Given the description of an element on the screen output the (x, y) to click on. 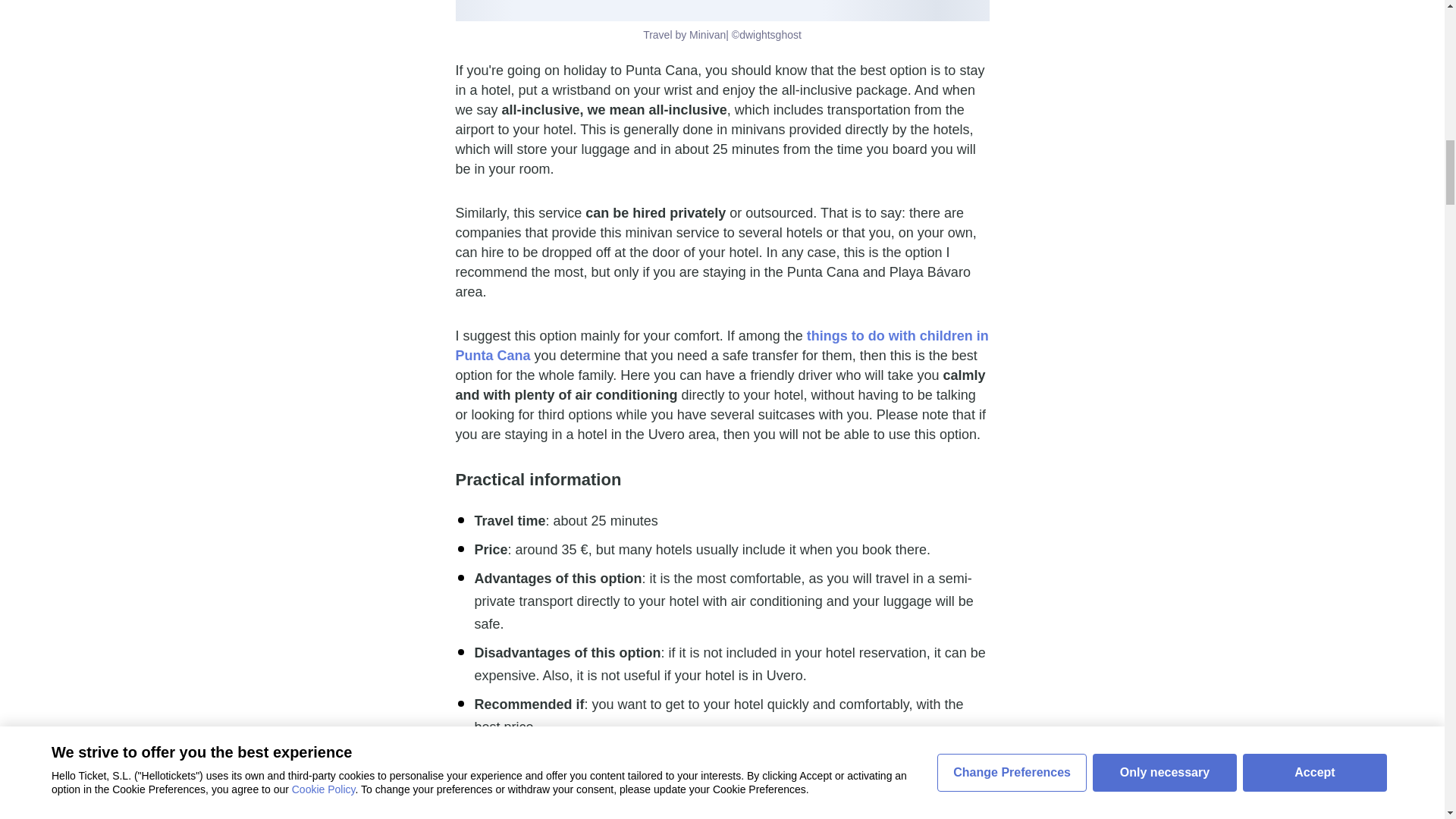
things to do with children in Punta Cana (721, 345)
